Given the description of an element on the screen output the (x, y) to click on. 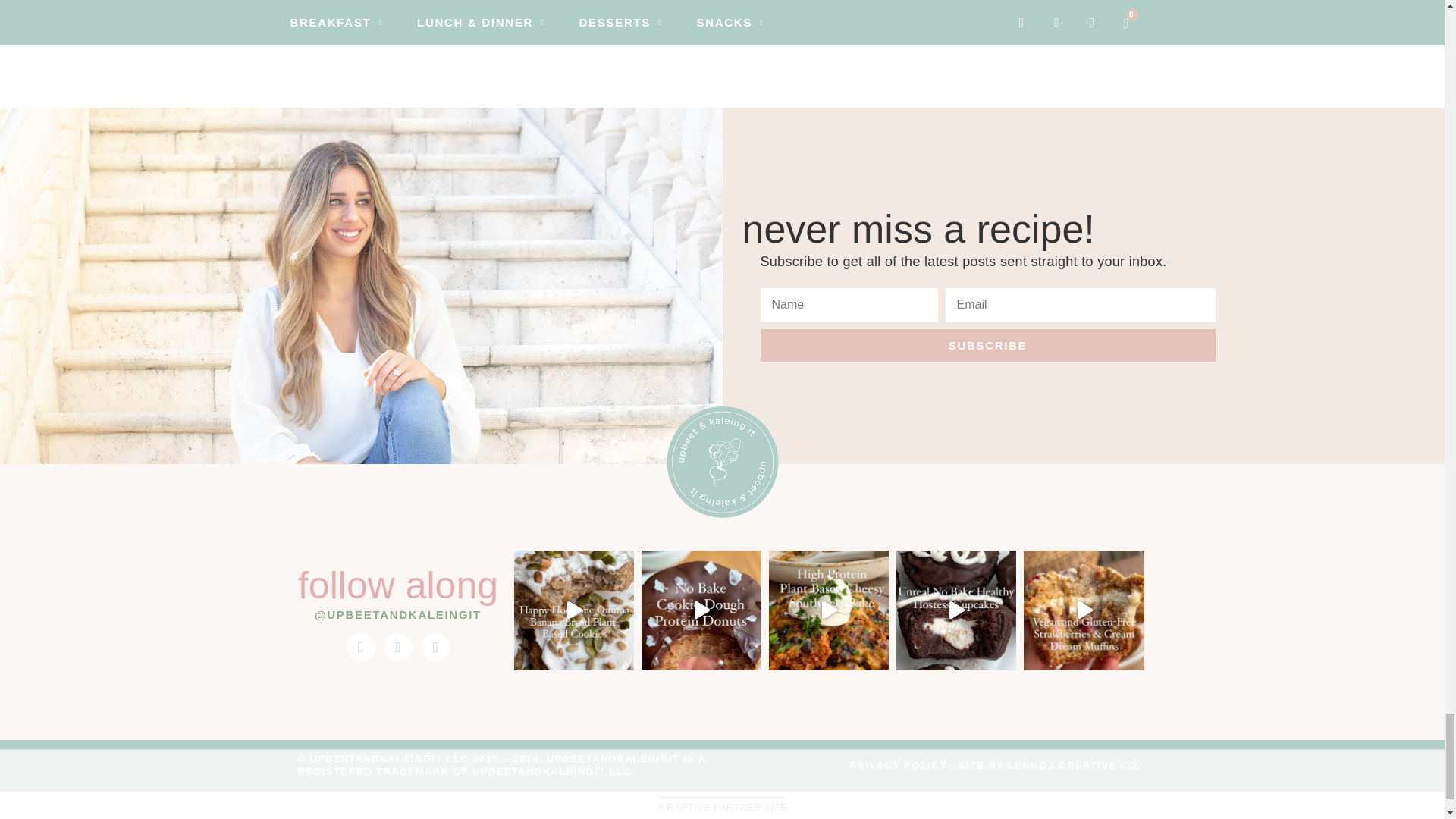
Post Comment (392, 6)
